Given the description of an element on the screen output the (x, y) to click on. 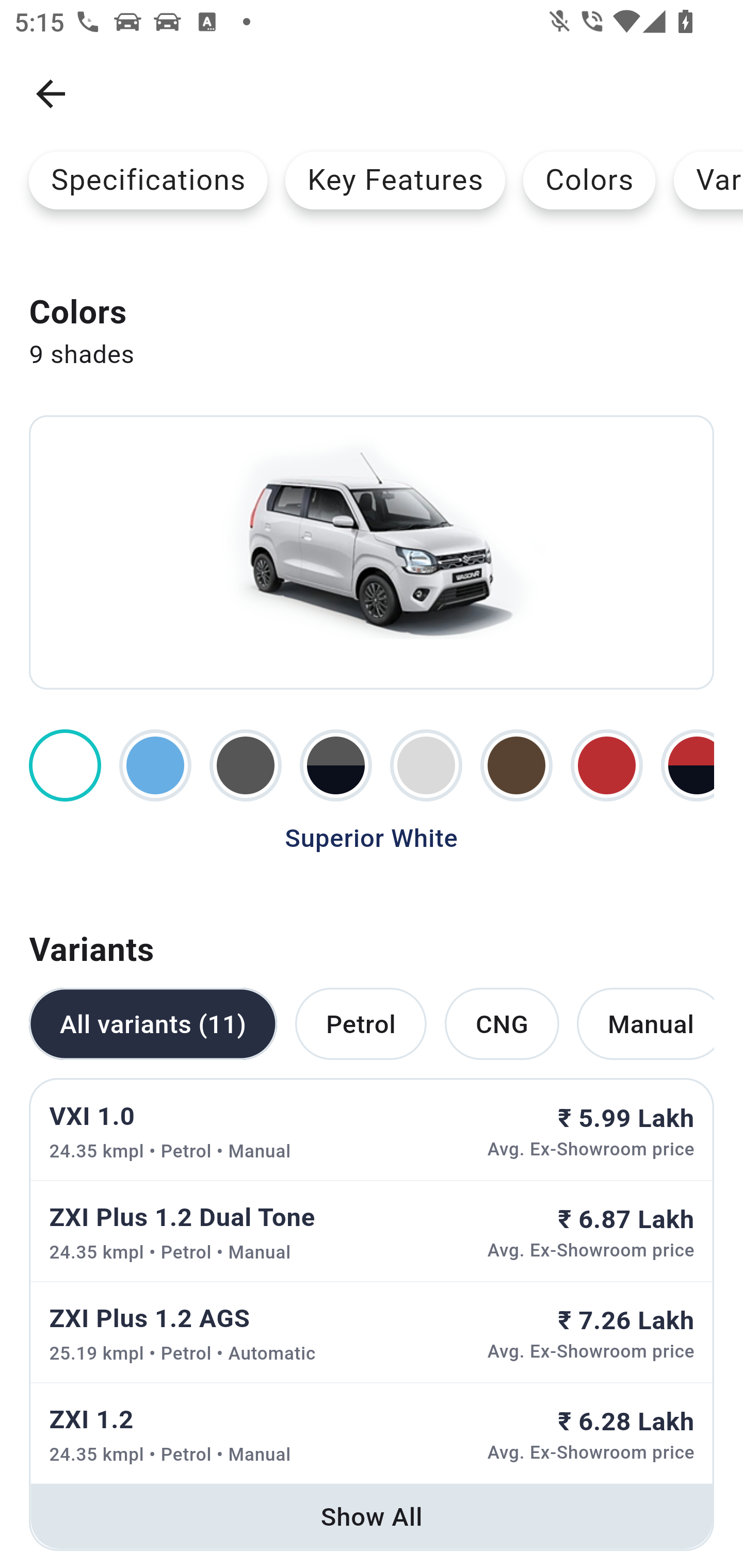
Back (50, 93)
Specifications (147, 180)
Key Features (395, 180)
Colors (589, 180)
All variants (11) (152, 1023)
Petrol (360, 1023)
CNG (501, 1023)
Manual (645, 1023)
Show All (371, 1516)
